Given the description of an element on the screen output the (x, y) to click on. 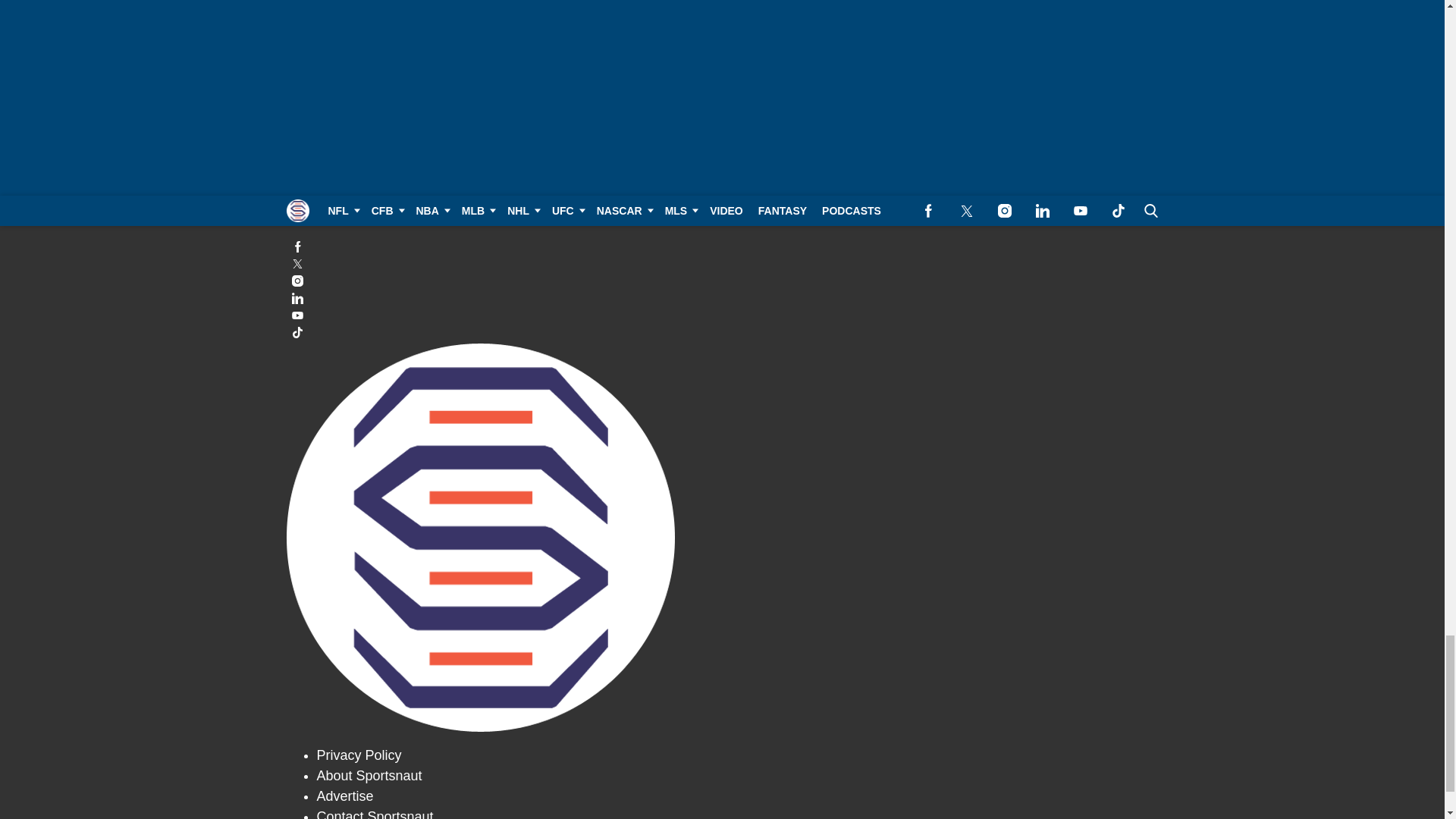
Follow us on Facebook (722, 246)
Connect with us on TikTok (722, 332)
Subscribe to our YouTube channel (722, 315)
Connect with us on LinkedIn (722, 297)
Follow us on Twitter (722, 264)
Follow us on Instagram (722, 280)
